Given the description of an element on the screen output the (x, y) to click on. 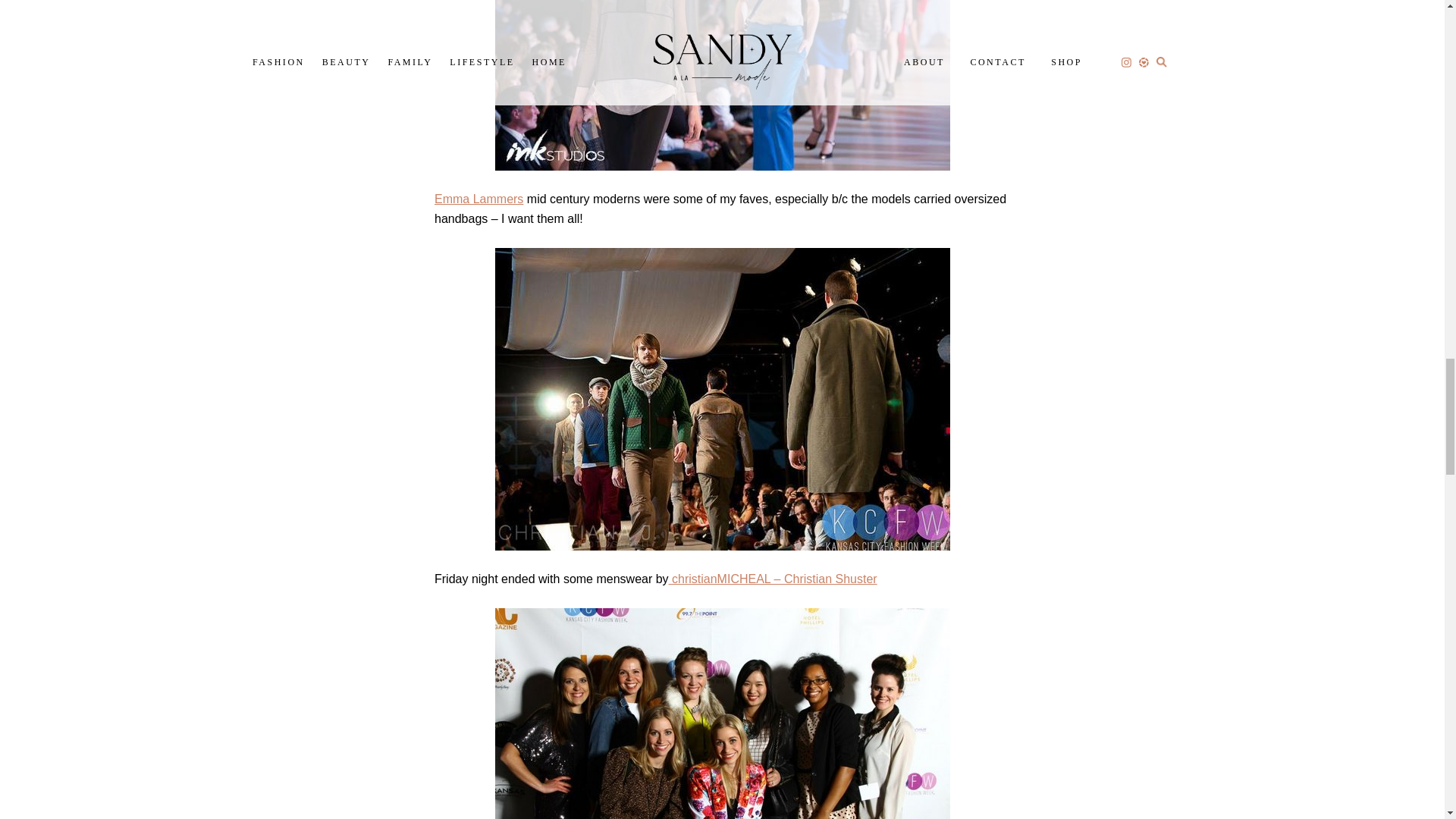
Emma Lammers (477, 198)
